Given the description of an element on the screen output the (x, y) to click on. 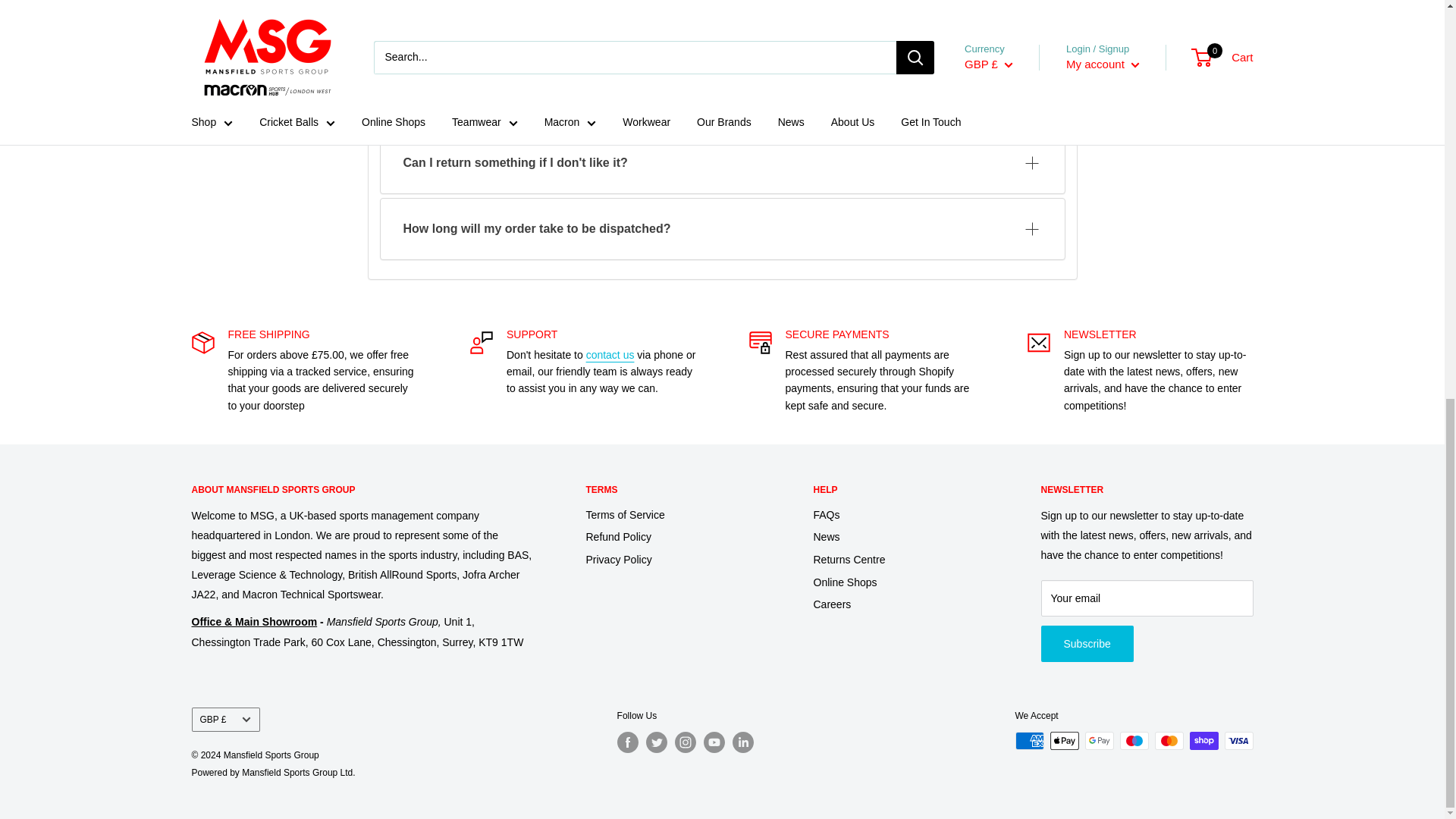
Get in Touch (610, 354)
